Given the description of an element on the screen output the (x, y) to click on. 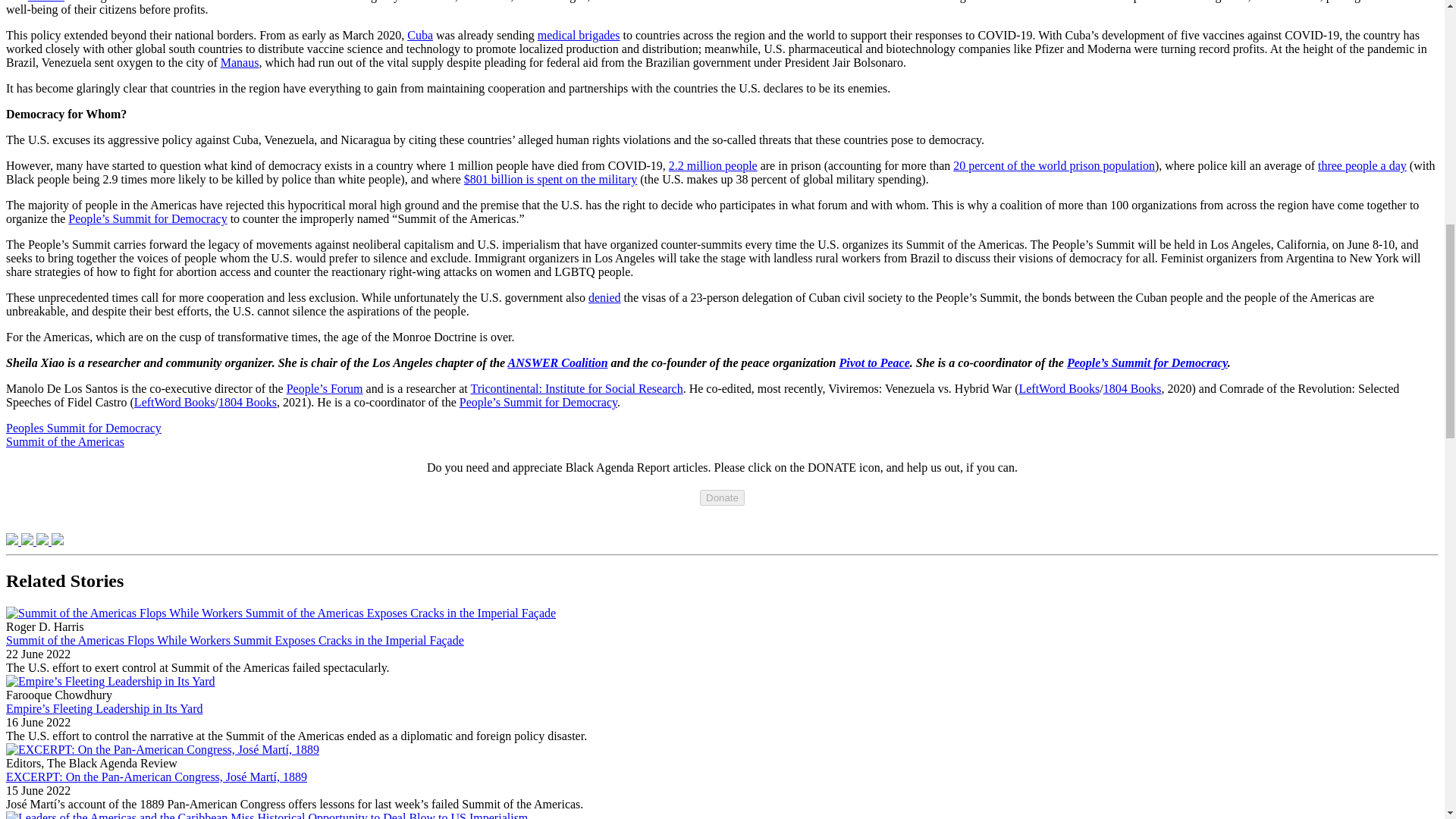
Cuba (419, 34)
outliers (45, 1)
three people a day (1361, 164)
Manaus (240, 62)
medical brigades (578, 34)
2.2 million people (712, 164)
20 percent of the world prison population (1053, 164)
